Given the description of an element on the screen output the (x, y) to click on. 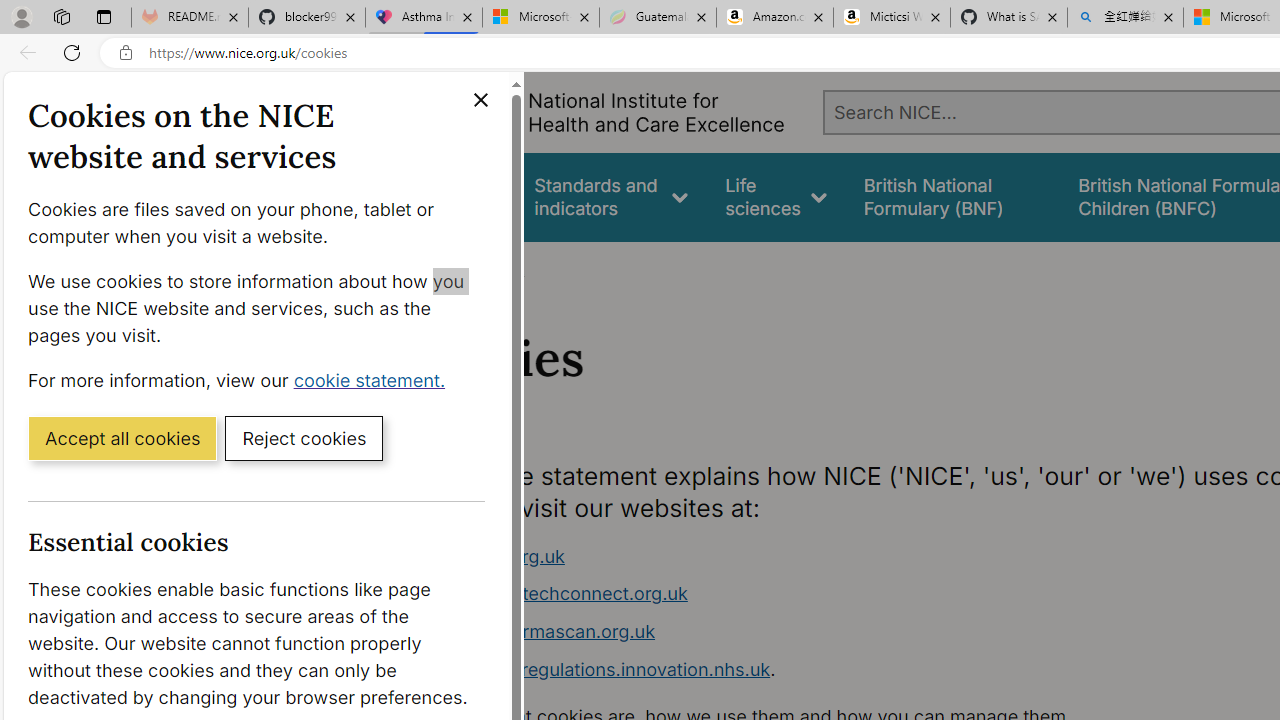
www.ukpharmascan.org.uk (796, 632)
www.nice.org.uk (796, 556)
www.healthtechconnect.org.uk (554, 593)
www.ukpharmascan.org.uk (538, 631)
false (952, 196)
